Given the description of an element on the screen output the (x, y) to click on. 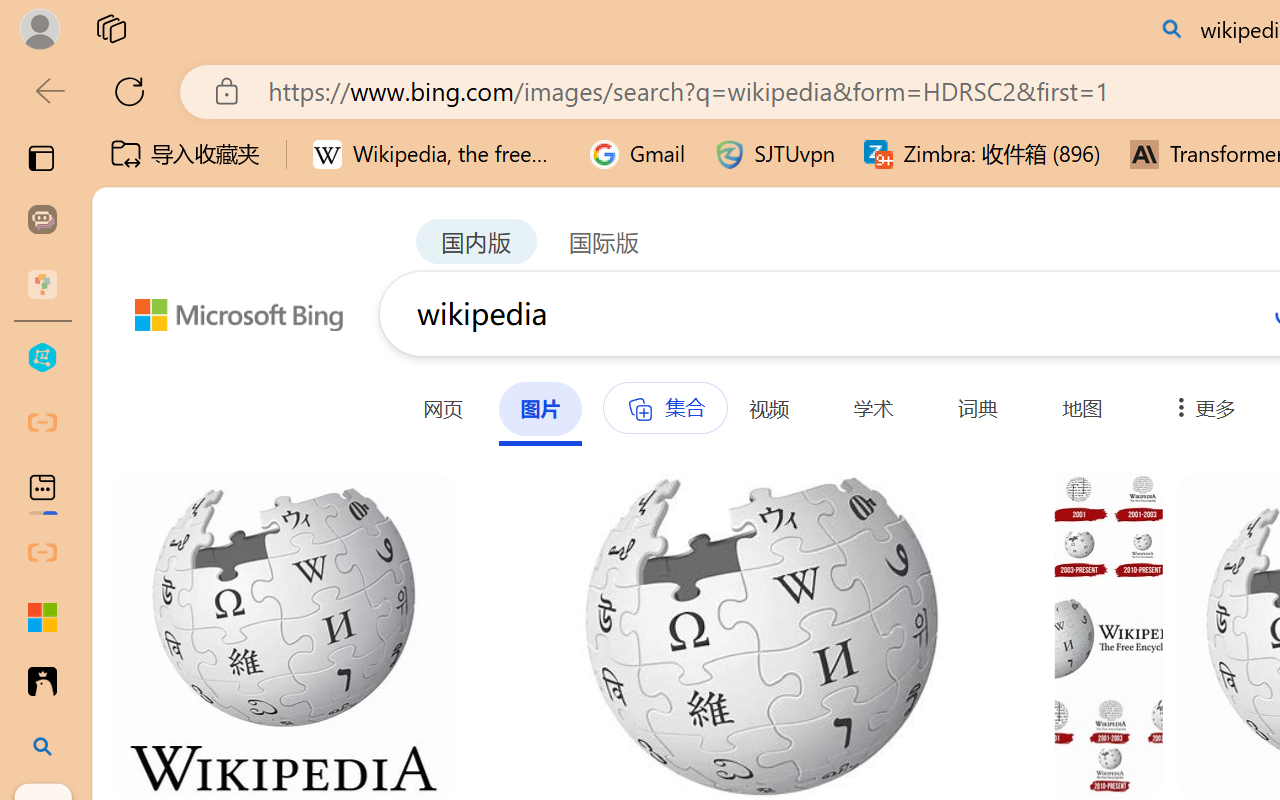
Captions & Subtitles (1019, 168)
Insert Captions (988, 94)
Always Use Subtitles (889, 97)
